Given the description of an element on the screen output the (x, y) to click on. 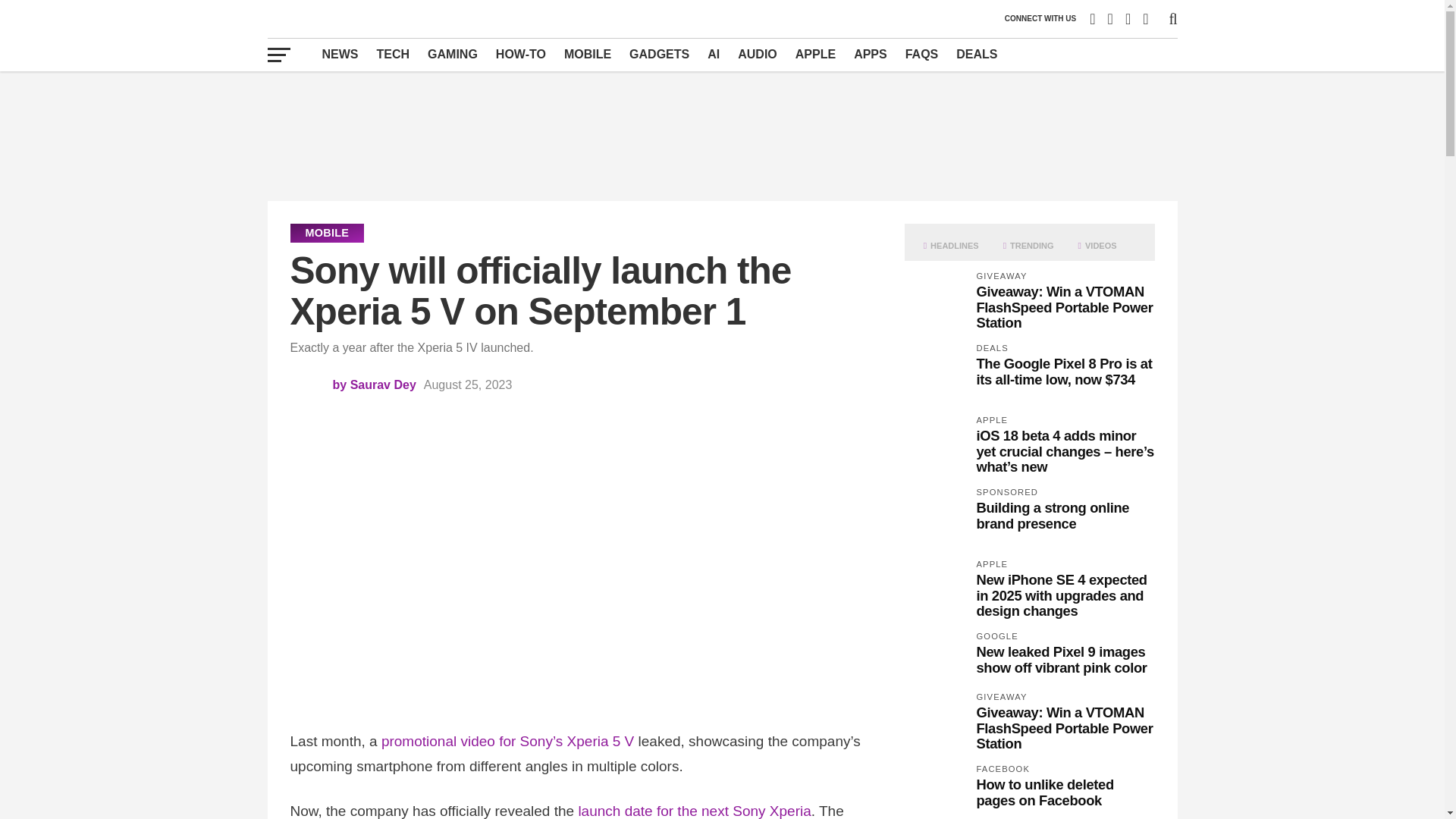
Posts by Saurav Dey (383, 384)
GADGETS (659, 54)
HOW-TO (520, 54)
FAQS (921, 54)
APPS (870, 54)
MOBILE (587, 54)
Saurav Dey (383, 384)
DEALS (976, 54)
GAMING (452, 54)
APPLE (815, 54)
AI (713, 54)
TECH (392, 54)
launch date for the next Sony Xperia (694, 811)
NEWS (339, 54)
AUDIO (757, 54)
